Given the description of an element on the screen output the (x, y) to click on. 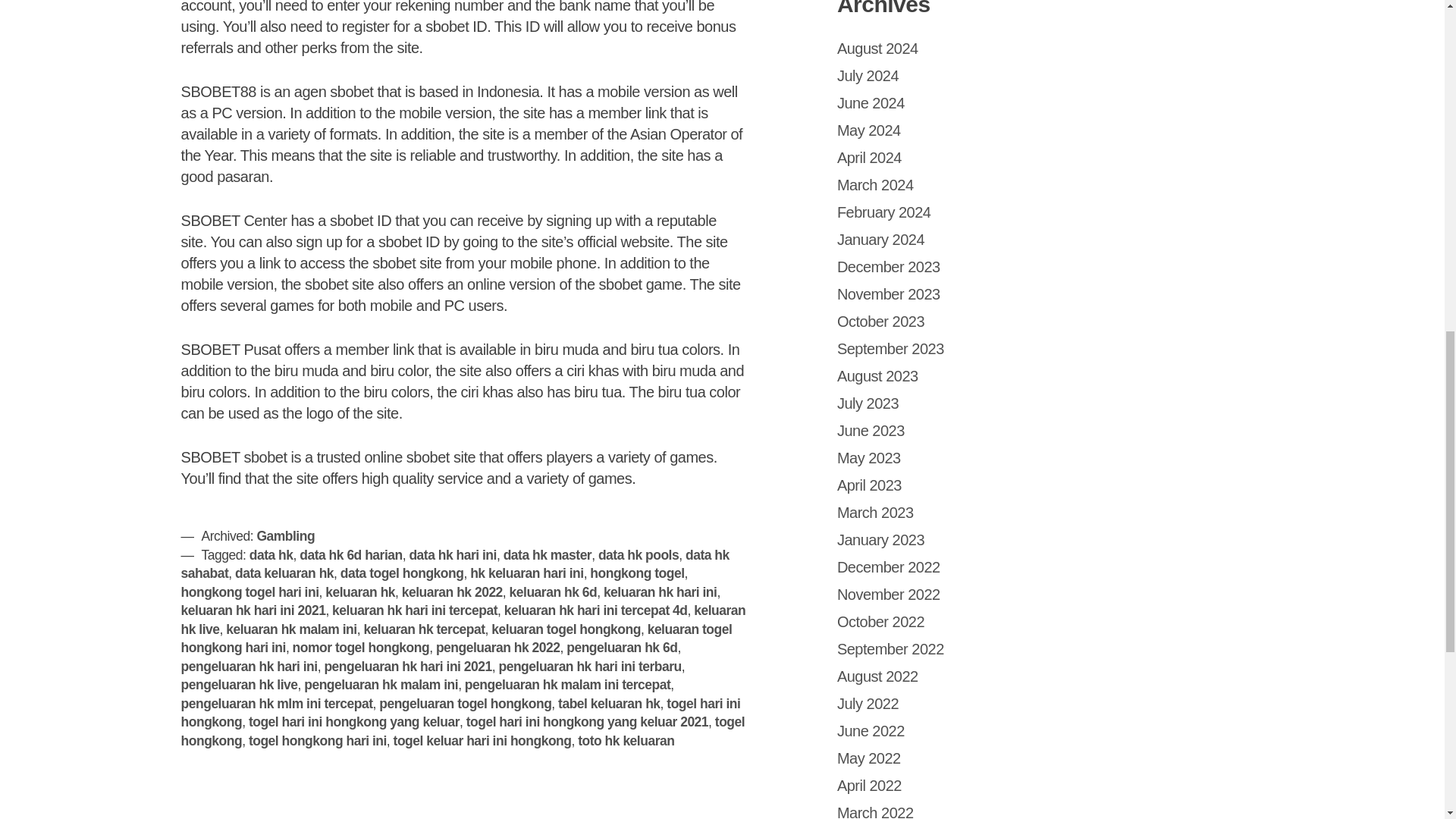
hongkong togel hari ini (249, 591)
hk keluaran hari ini (526, 572)
pengeluaran hk hari ini 2021 (407, 666)
data togel hongkong (402, 572)
keluaran hk 6d (552, 591)
pengeluaran hk 6d (621, 647)
pengeluaran hk malam ini tercepat (566, 684)
keluaran togel hongkong hari ini (456, 638)
keluaran hk tercepat (423, 629)
pengeluaran hk malam ini (381, 684)
pengeluaran hk hari ini terbaru (590, 666)
data hk (271, 554)
keluaran hk hari ini (660, 591)
keluaran hk (359, 591)
keluaran hk 2022 (451, 591)
